Given the description of an element on the screen output the (x, y) to click on. 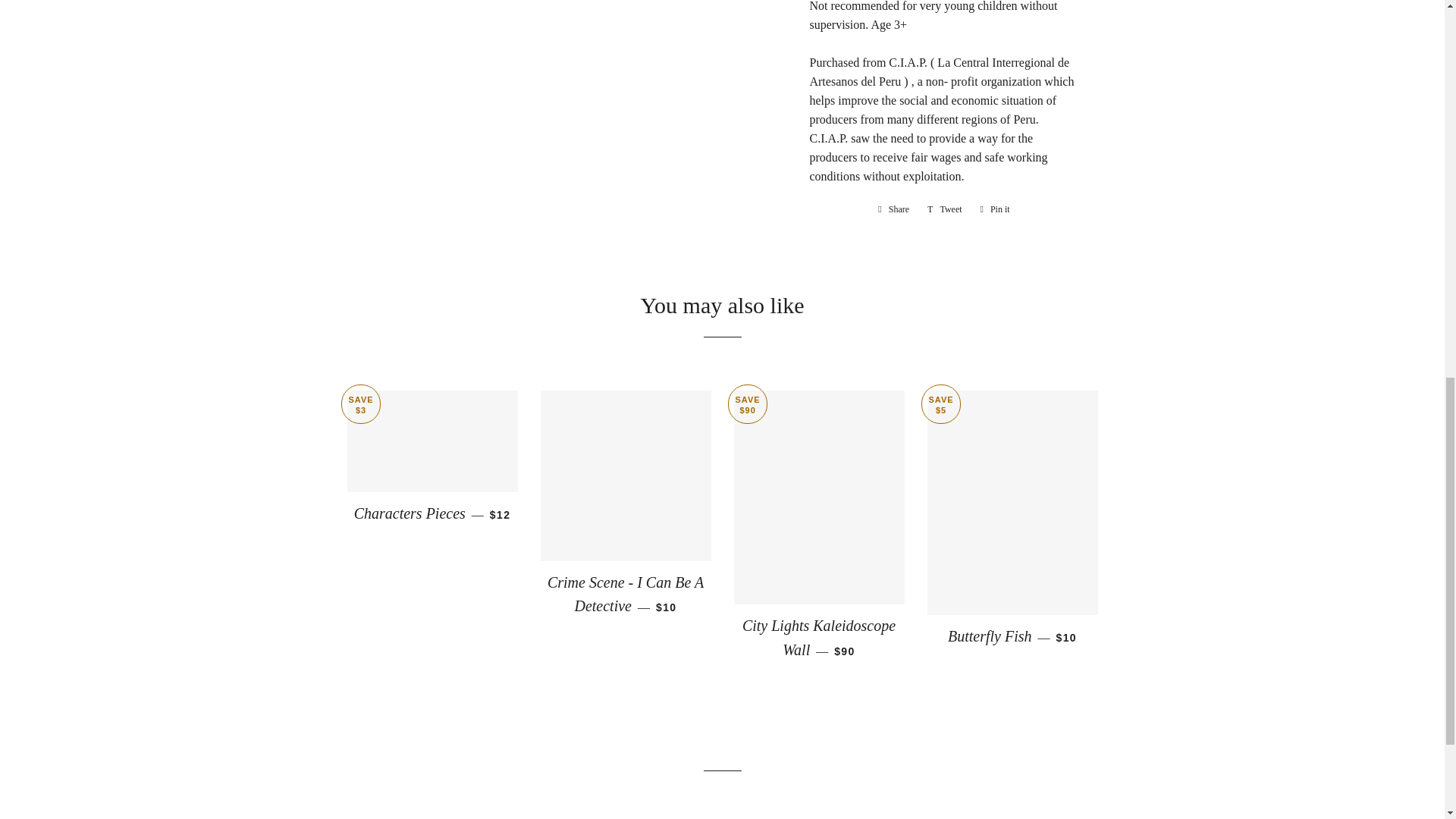
Pin on Pinterest (994, 208)
Tweet on Twitter (944, 208)
Share on Facebook (893, 208)
